Given the description of an element on the screen output the (x, y) to click on. 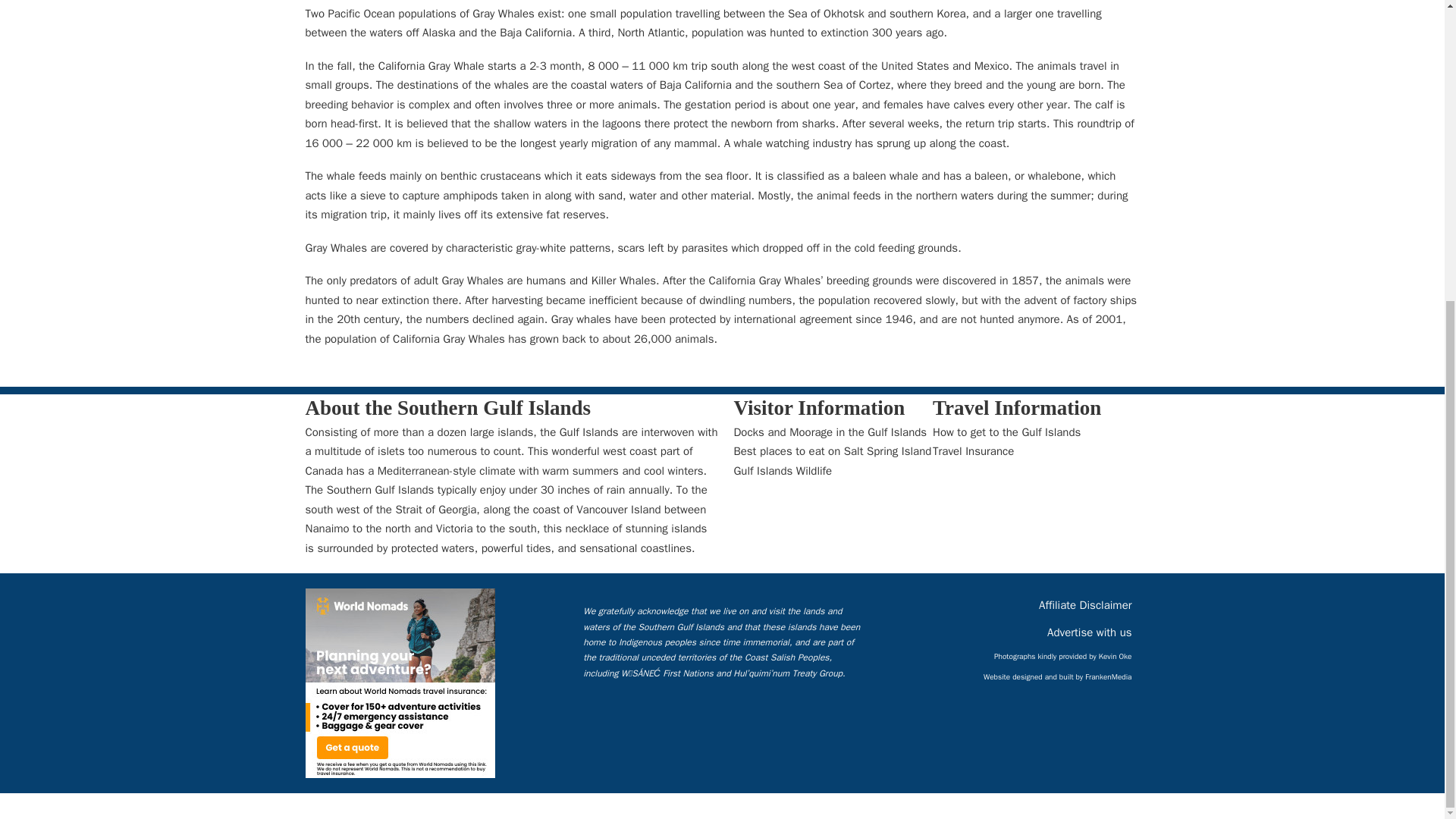
Affiliate Disclaimer (1089, 601)
Docks and Moorage in the Gulf Islands (829, 433)
Advertise with us (1092, 628)
Best places to eat on Salt Spring Island (832, 451)
Website designed and built by FrankenMedia (1062, 672)
How to get to the Gulf Islands (1006, 433)
Gulf Islands Wildlife (782, 471)
Photographs kindly provided by Kevin Oke (1067, 652)
Travel Insurance (973, 451)
